Given the description of an element on the screen output the (x, y) to click on. 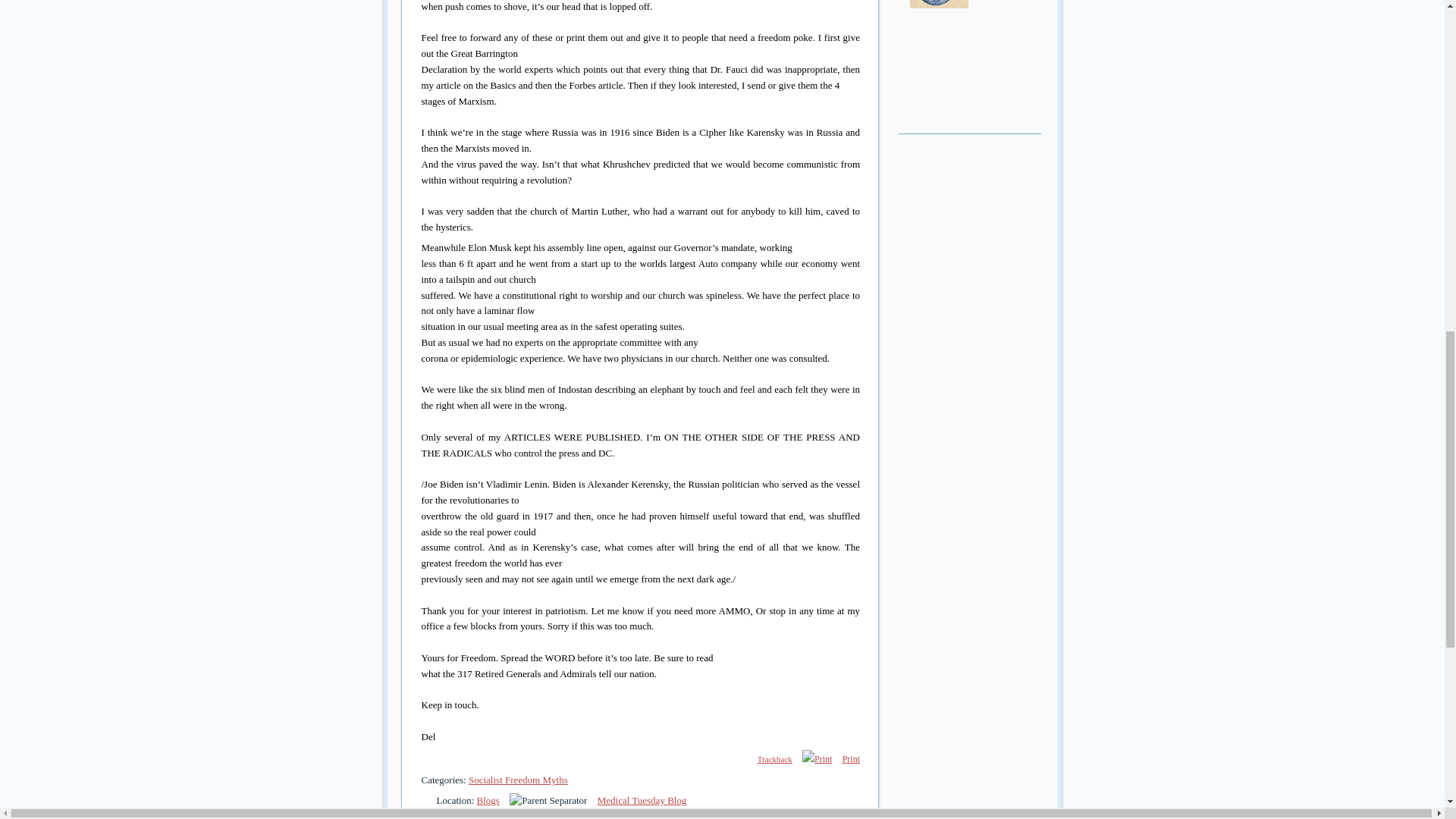
Socialist Freedom Myths (517, 779)
Print (851, 759)
Print (817, 759)
Print (816, 759)
Blogs (488, 799)
Medical Tuesday Blog (641, 799)
Print (851, 759)
Trackback (767, 759)
